Given the description of an element on the screen output the (x, y) to click on. 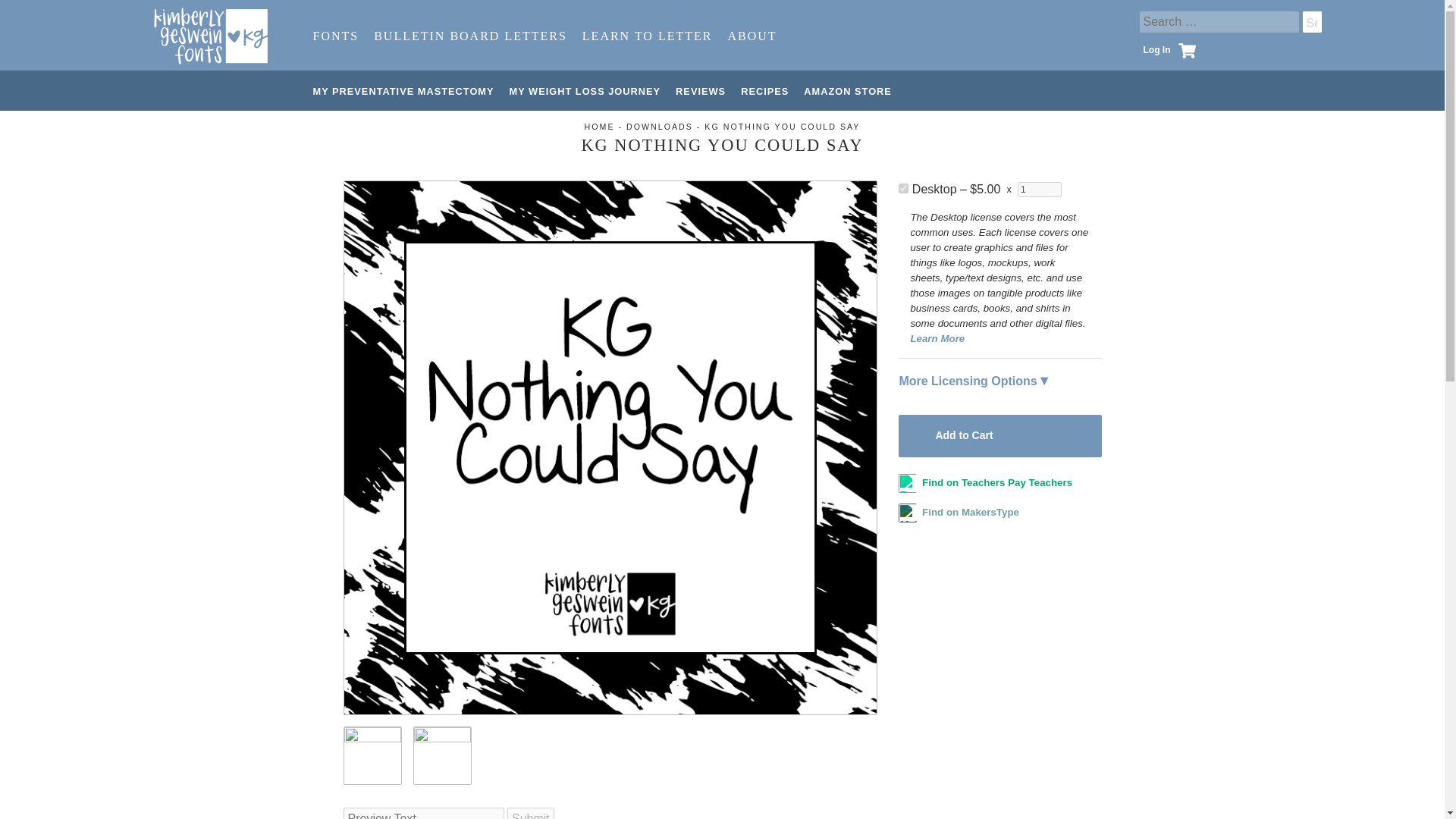
Add to Cart (101, 15)
RECIPES (764, 91)
BULLETIN BOARD LETTERS (470, 34)
LEARN TO LETTER (647, 34)
Find on MakersType (958, 511)
DOWNLOADS (659, 126)
Find on Teachers Pay Teachers (984, 482)
Add to Cart (999, 435)
AMAZON STORE (847, 91)
Search Icon (1311, 21)
